Given the description of an element on the screen output the (x, y) to click on. 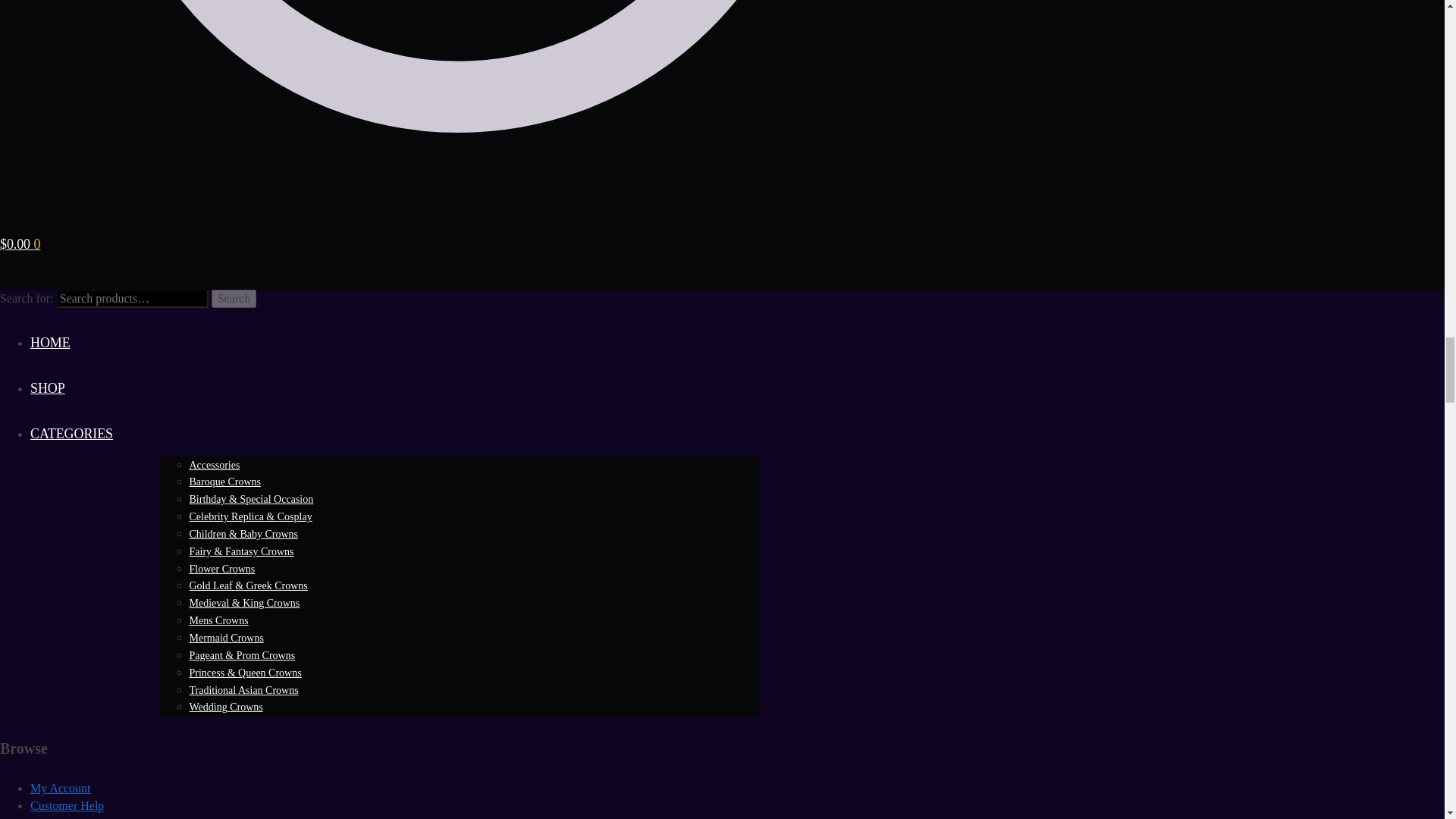
Search (234, 298)
SHOP (47, 387)
HOME (49, 342)
My Account (60, 788)
Wedding Crowns (226, 706)
Mens Crowns (218, 620)
Accessories (214, 464)
Baroque Crowns (225, 481)
Flower Crowns (222, 568)
Traditional Asian Crowns (243, 690)
Customer Help (66, 805)
Mermaid Crowns (226, 637)
CATEGORIES (71, 433)
